Given the description of an element on the screen output the (x, y) to click on. 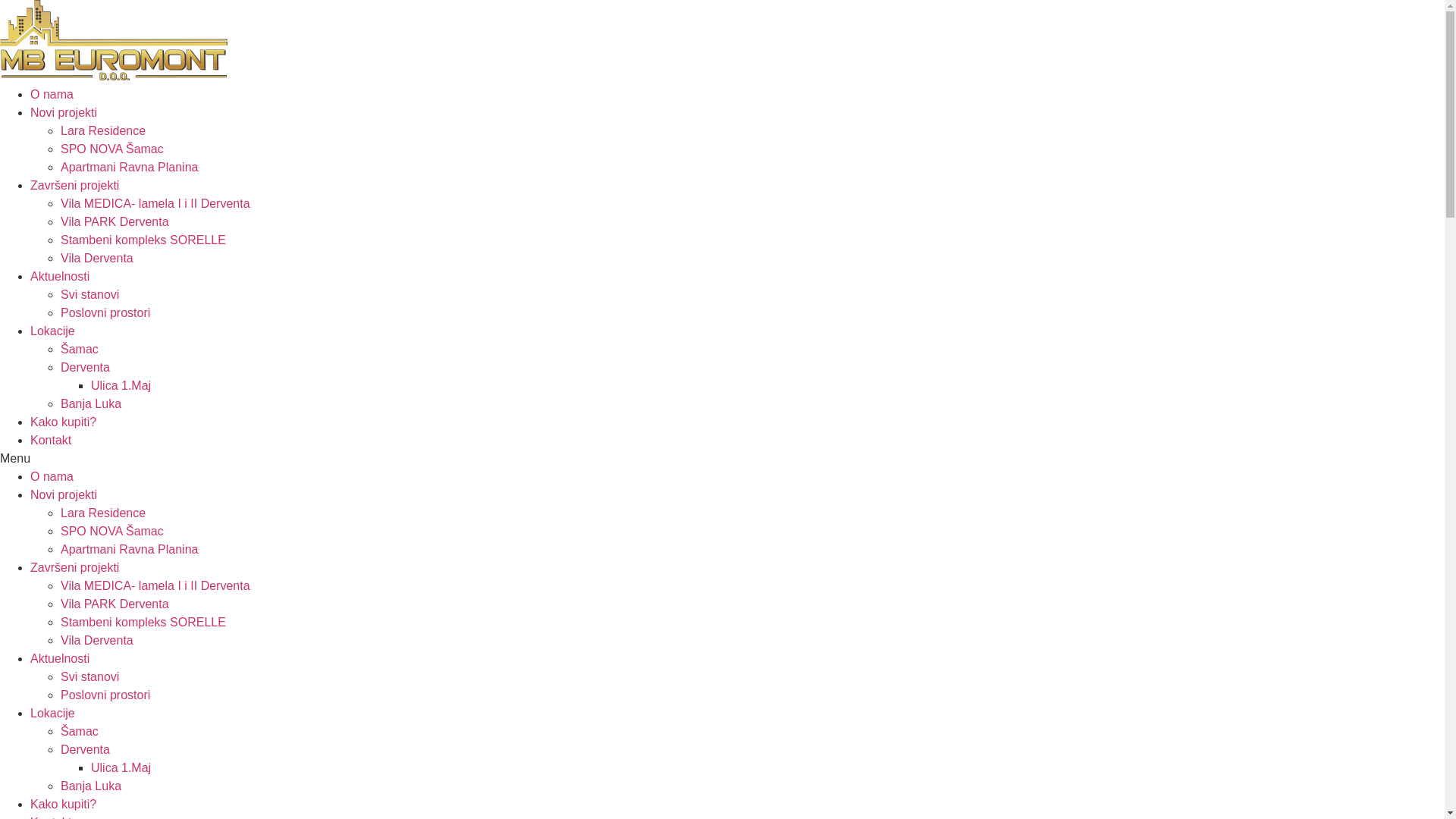
Poslovni prostori Element type: text (105, 694)
Lara Residence Element type: text (102, 130)
Kako kupiti? Element type: text (63, 421)
Vila MEDICA- lamela I i II Derventa Element type: text (155, 585)
Novi projekti Element type: text (63, 112)
Vila PARK Derventa Element type: text (114, 603)
Stambeni kompleks SORELLE Element type: text (142, 621)
Vila PARK Derventa Element type: text (114, 221)
Kontakt Element type: text (50, 439)
Stambeni kompleks SORELLE Element type: text (142, 239)
O nama Element type: text (51, 93)
Novi projekti Element type: text (63, 494)
Aktuelnosti Element type: text (59, 658)
Kako kupiti? Element type: text (63, 803)
Derventa Element type: text (84, 366)
Banja Luka Element type: text (90, 403)
Vila Derventa Element type: text (96, 639)
Derventa Element type: text (84, 749)
O nama Element type: text (51, 476)
Vila MEDICA- lamela I i II Derventa Element type: text (155, 203)
Ulica 1.Maj Element type: text (120, 767)
Lokacije Element type: text (52, 330)
Svi stanovi Element type: text (89, 294)
Banja Luka Element type: text (90, 785)
Vila Derventa Element type: text (96, 257)
Lokacije Element type: text (52, 712)
Ulica 1.Maj Element type: text (120, 385)
Poslovni prostori Element type: text (105, 312)
Lara Residence Element type: text (102, 512)
Aktuelnosti Element type: text (59, 275)
Svi stanovi Element type: text (89, 676)
